Given the description of an element on the screen output the (x, y) to click on. 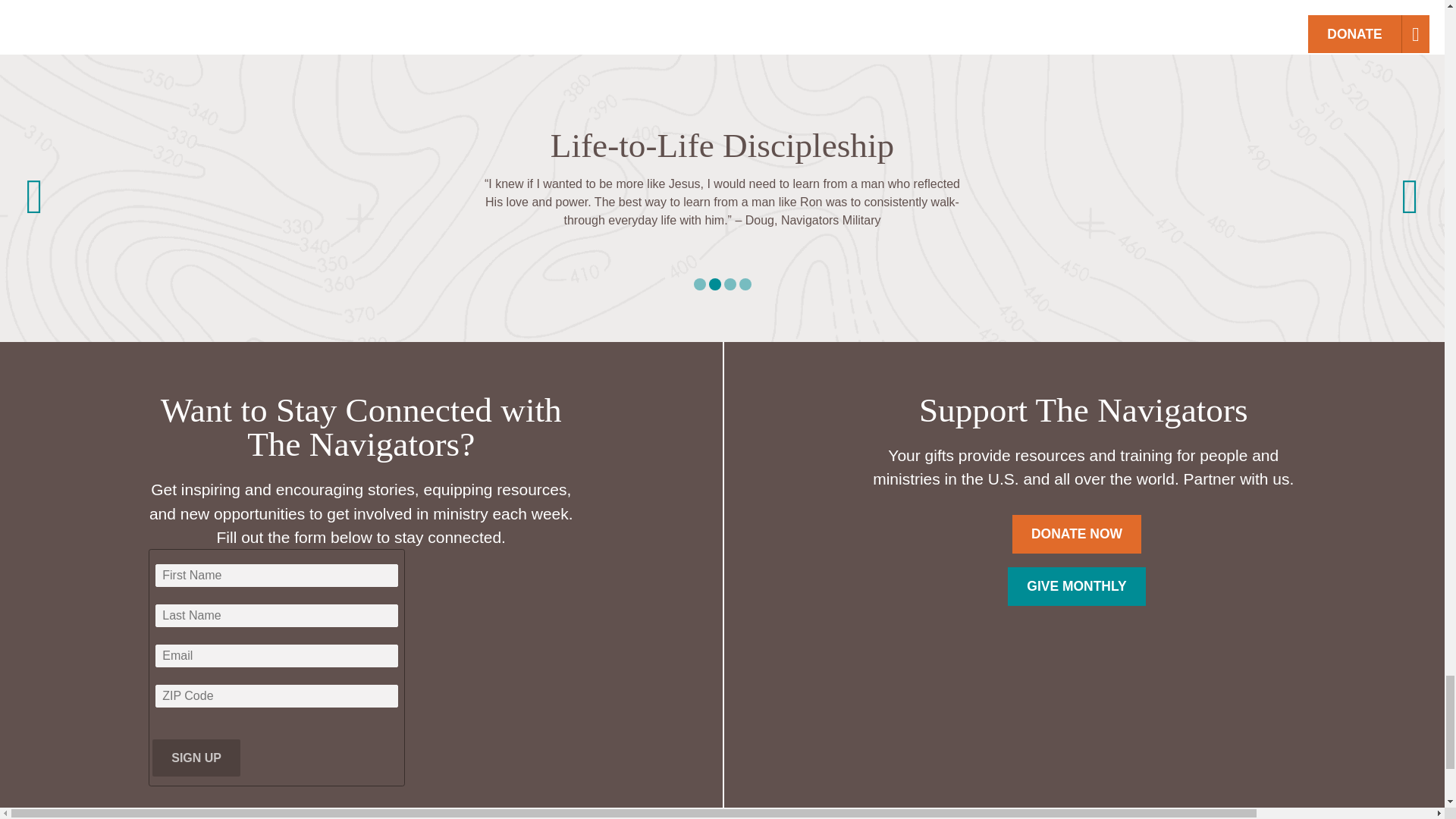
SIGN UP (196, 757)
